Given the description of an element on the screen output the (x, y) to click on. 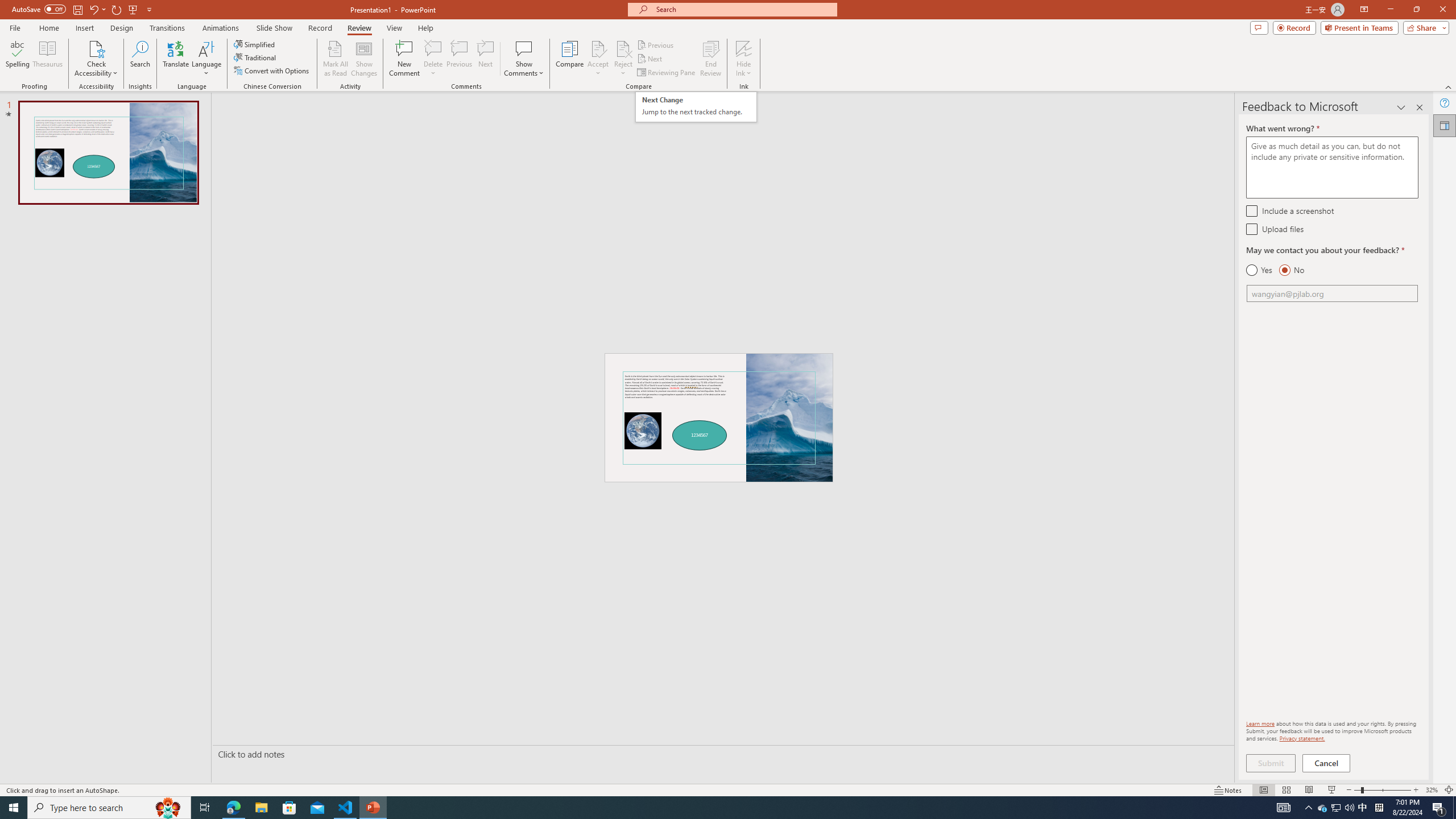
Hide Ink (743, 48)
Upload files (1251, 228)
What went wrong? * (1332, 167)
Include a screenshot (1251, 210)
Email (1332, 293)
